Given the description of an element on the screen output the (x, y) to click on. 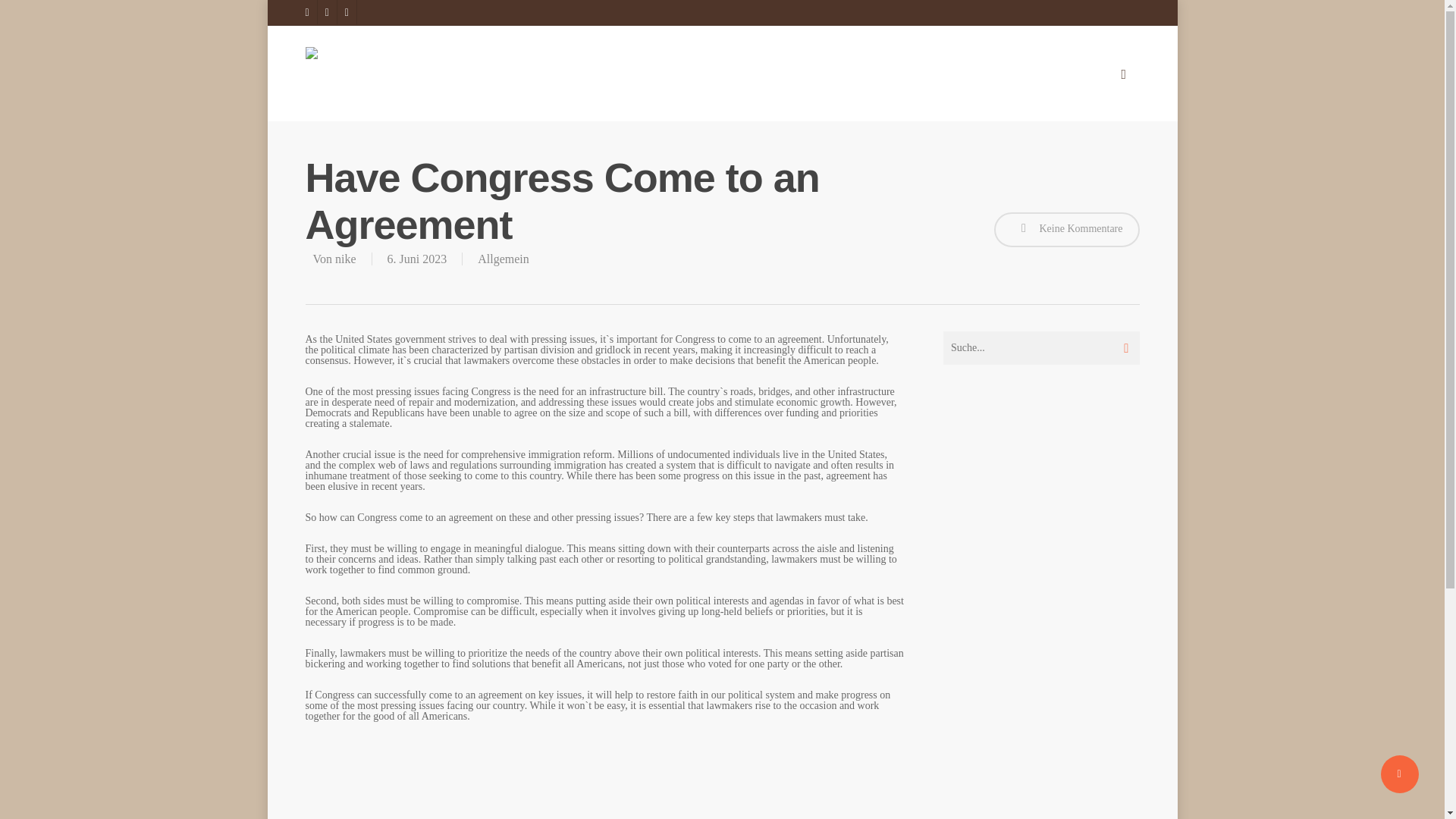
Suche nach: (1041, 347)
Keine Kommentare (1067, 229)
nike (345, 258)
